Given the description of an element on the screen output the (x, y) to click on. 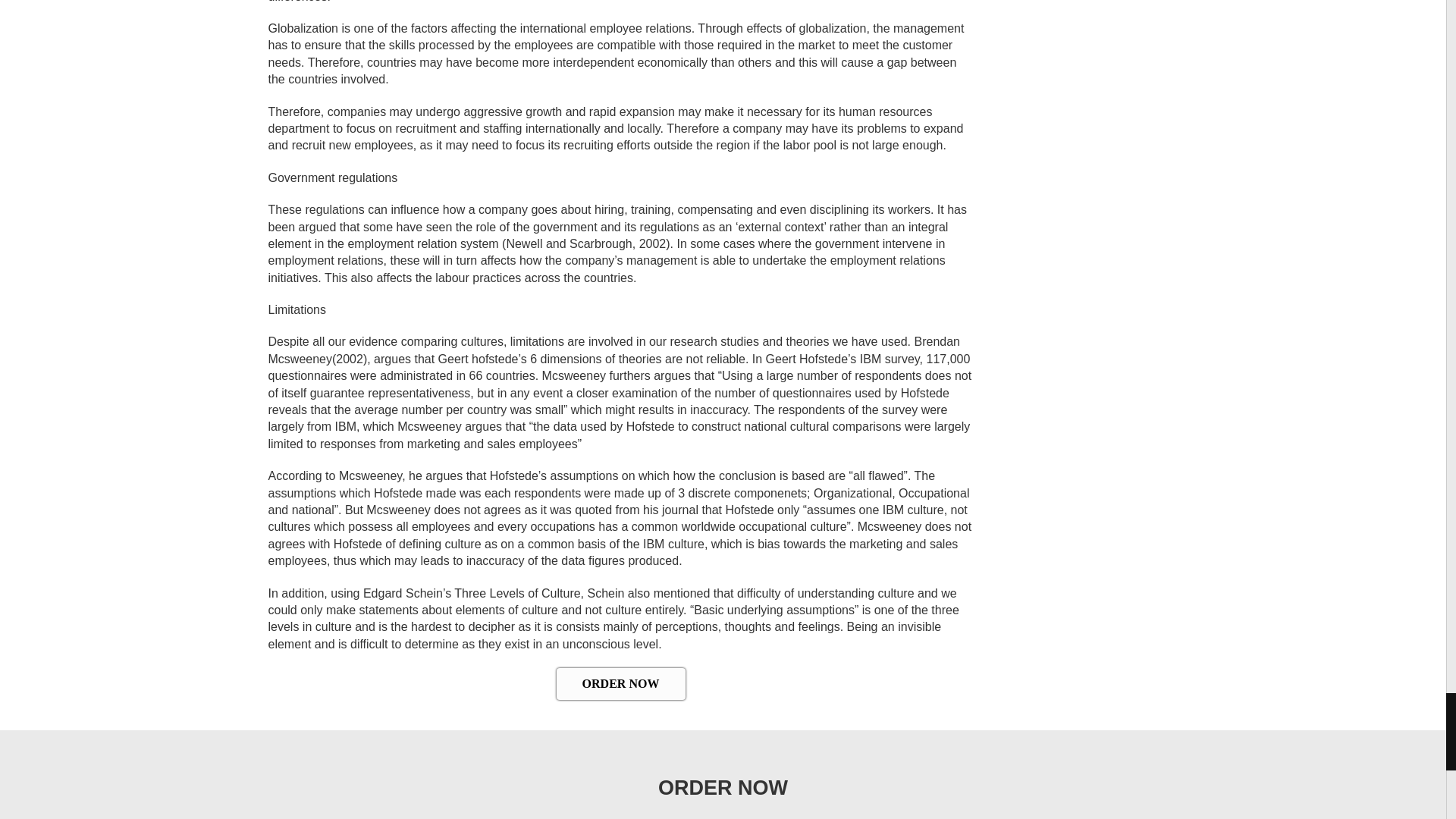
ORDER NOW (620, 684)
